Given the description of an element on the screen output the (x, y) to click on. 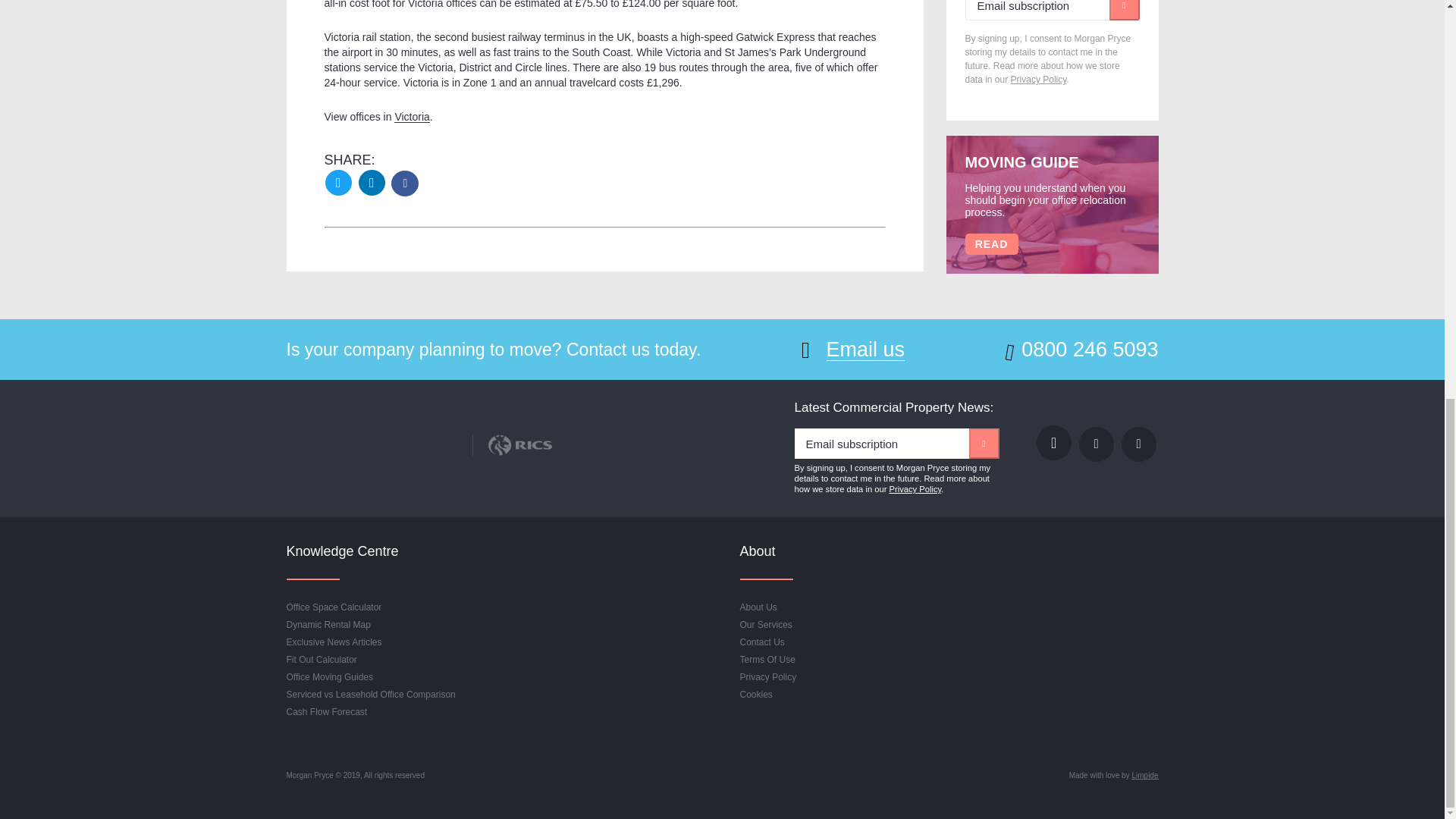
Morgan Pryce (369, 427)
